Given the description of an element on the screen output the (x, y) to click on. 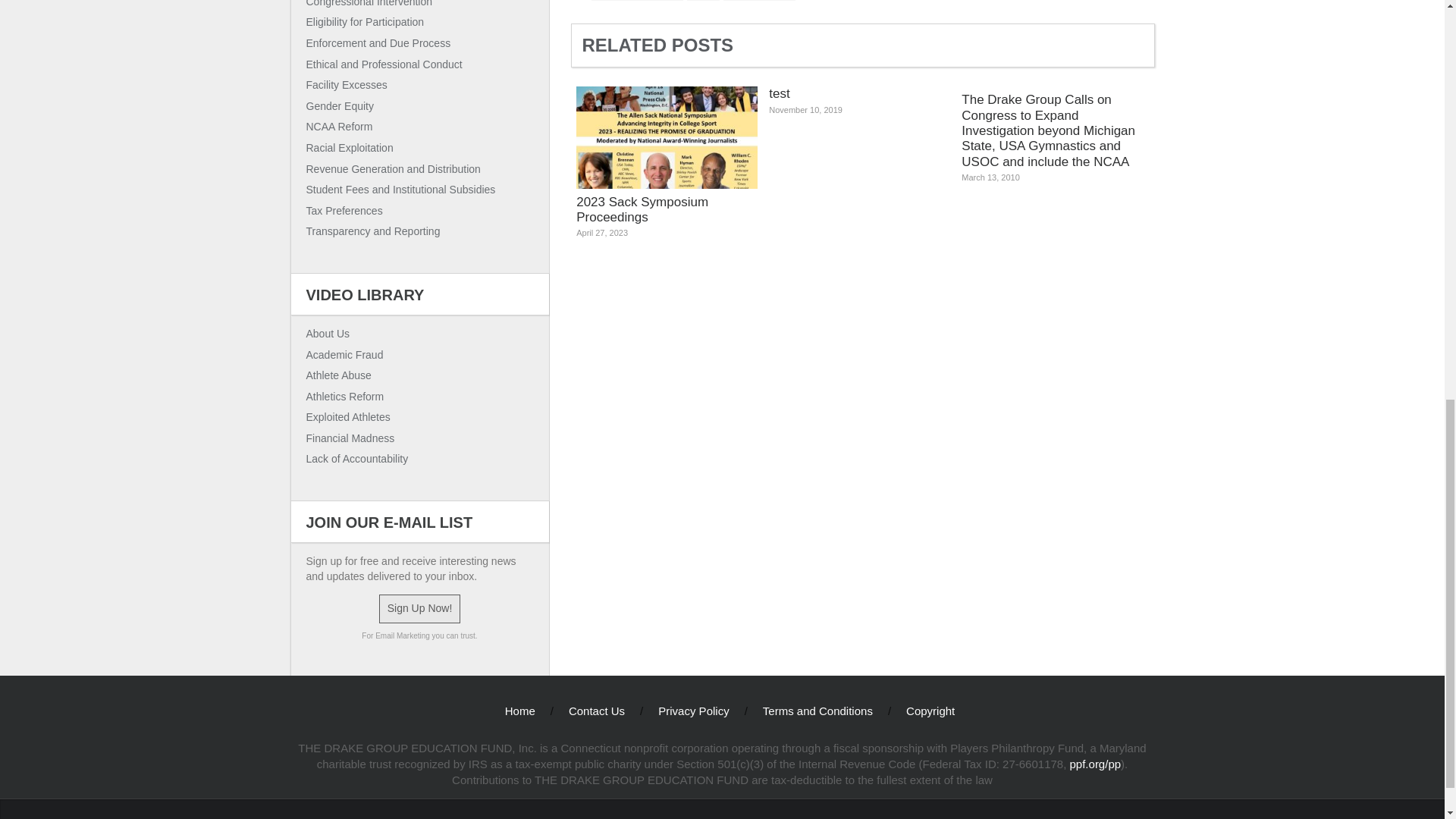
Permanent Link to: test (859, 106)
Permanent Link to: 2023 Sack Symposium Proceedings (666, 168)
